Given the description of an element on the screen output the (x, y) to click on. 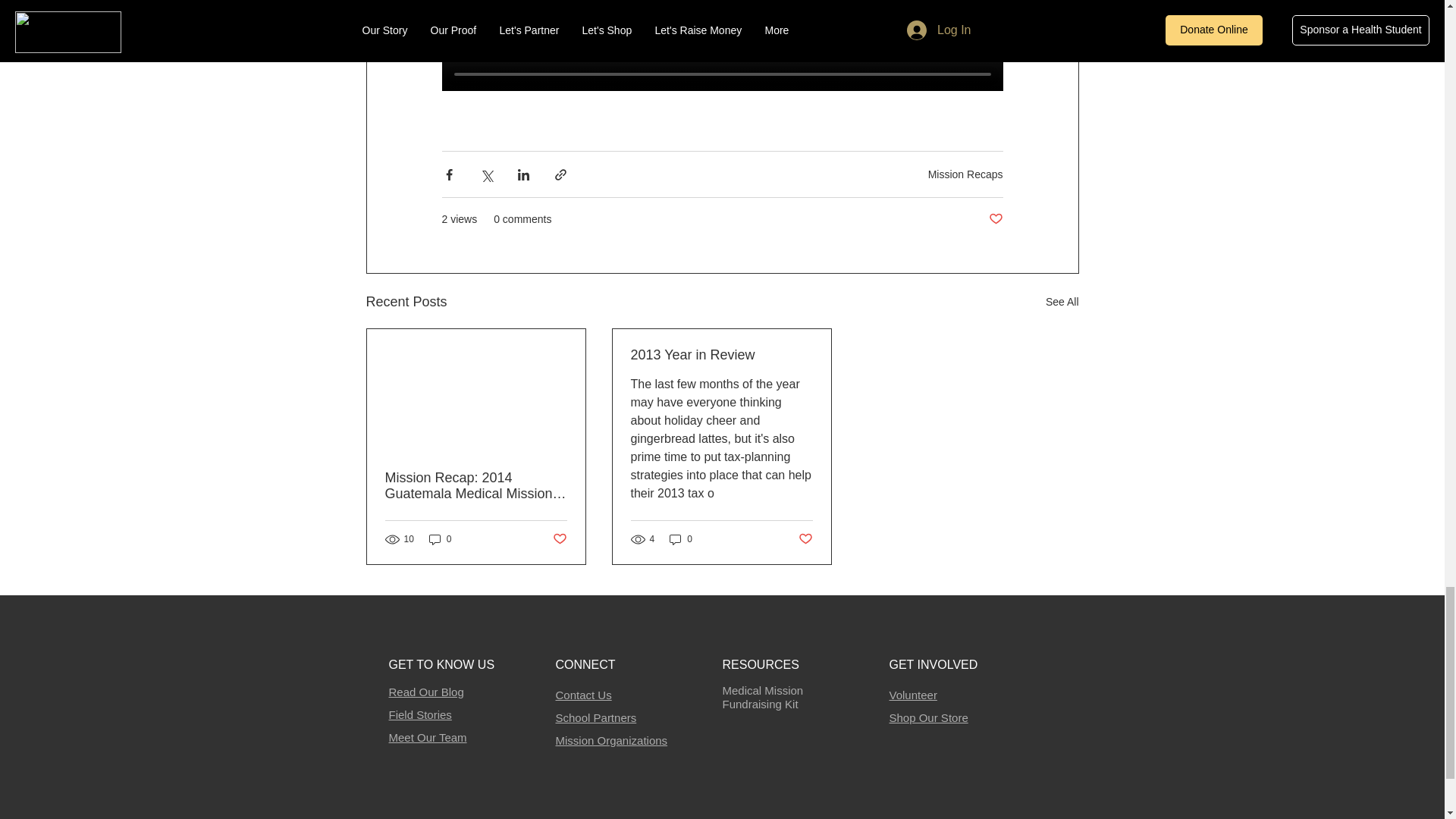
See All (1061, 301)
Mission Recaps (965, 174)
Post not marked as liked (995, 219)
Mission Recap: 2014 Guatemala Medical Mission June 25-29 (476, 486)
